Given the description of an element on the screen output the (x, y) to click on. 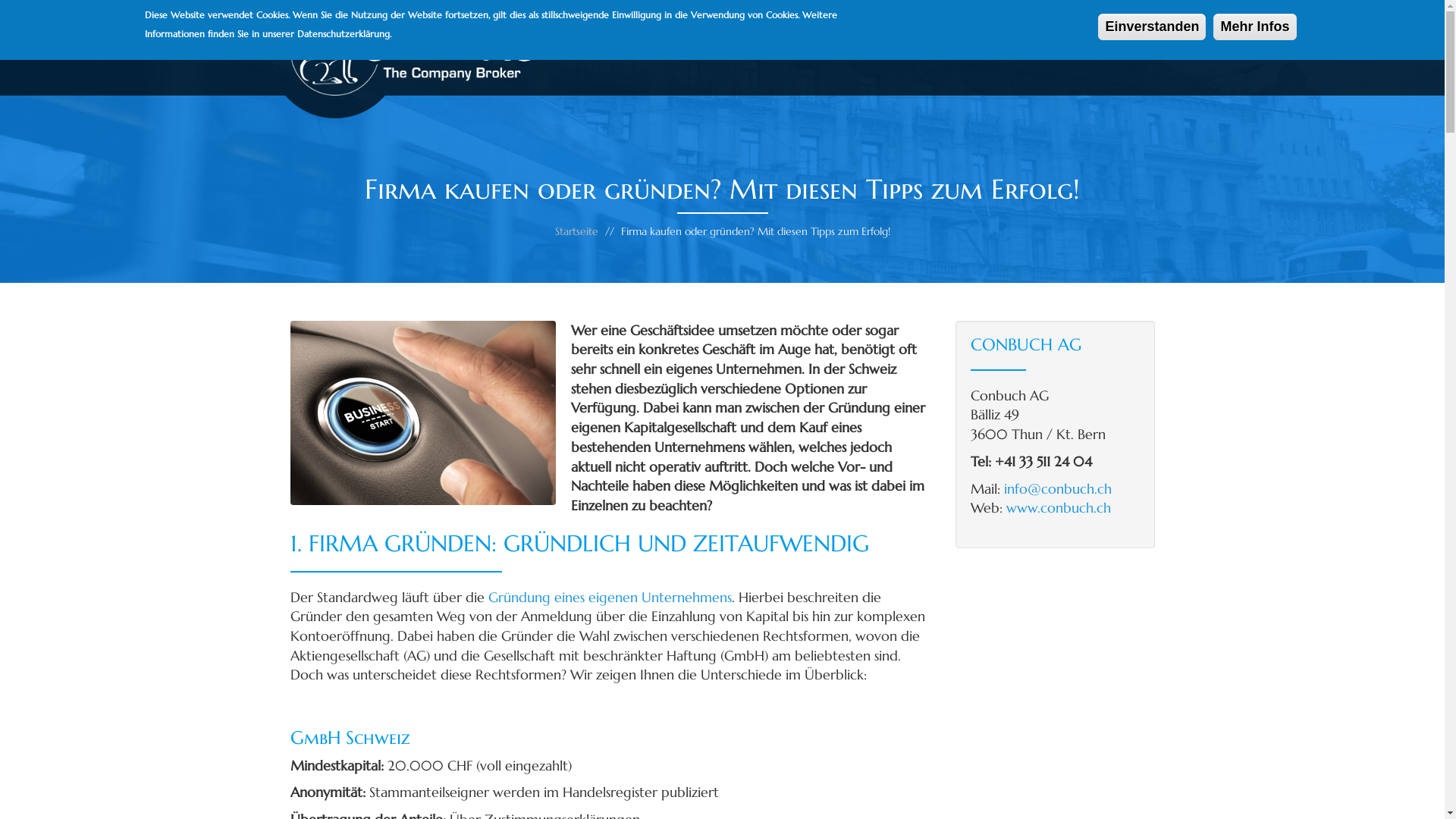
Einverstanden Element type: text (1151, 26)
Service Element type: text (791, 47)
Infos Element type: text (873, 47)
info@conbuch.ch Element type: text (1057, 488)
Kontakt Element type: text (964, 47)
Mehr Infos Element type: text (1254, 26)
+41 33 511 24 04 Element type: text (1084, 47)
www.conbuch.ch Element type: text (1058, 507)
Direkt zum Inhalt Element type: text (0, 0)
Startseite Element type: text (576, 231)
Startseite Element type: hover (418, 50)
